Given the description of an element on the screen output the (x, y) to click on. 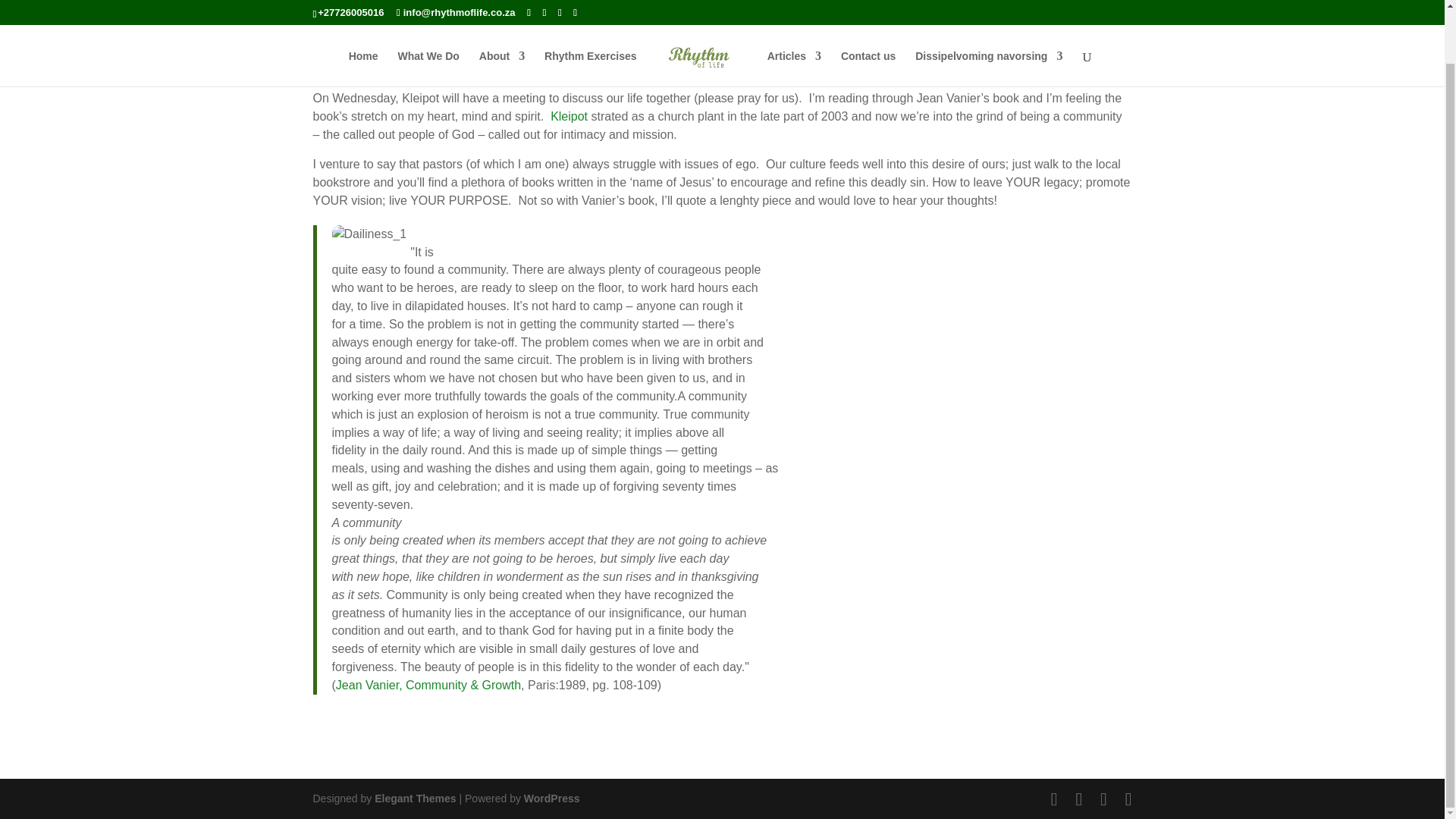
Rhythm Exercises (590, 13)
Articles (794, 13)
Premium WordPress Themes (414, 797)
Dissipelvoming navorsing (988, 13)
Home (363, 13)
What We Do (427, 13)
Contact us (868, 13)
About (501, 13)
